Given the description of an element on the screen output the (x, y) to click on. 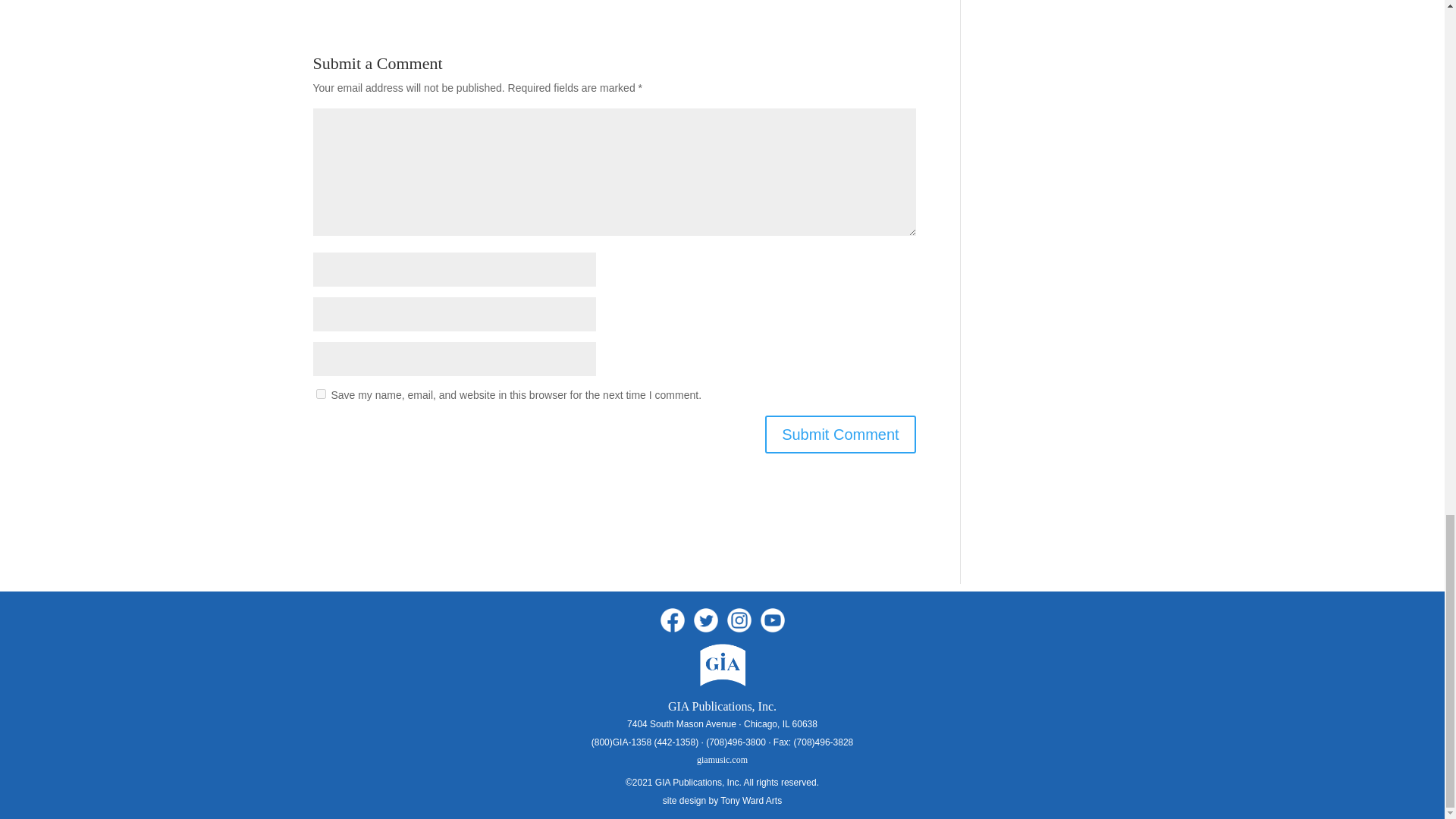
yes (319, 393)
Submit Comment (840, 434)
